Given the description of an element on the screen output the (x, y) to click on. 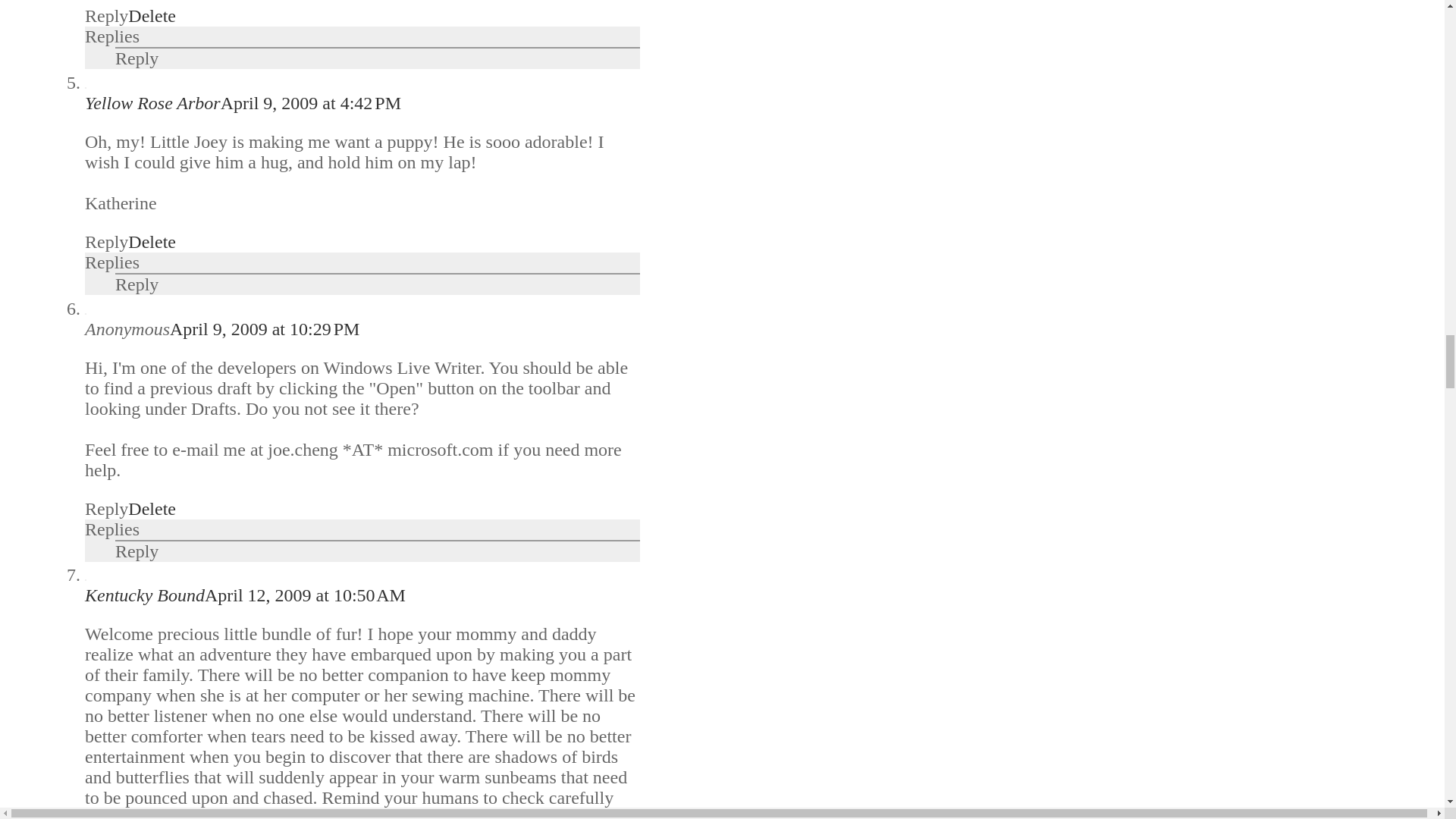
Reply (106, 241)
Reply (136, 284)
Replies (111, 261)
Reply (106, 15)
Yellow Rose Arbor (152, 103)
Delete (152, 15)
Delete (152, 241)
Reply (136, 57)
Replies (111, 35)
